Given the description of an element on the screen output the (x, y) to click on. 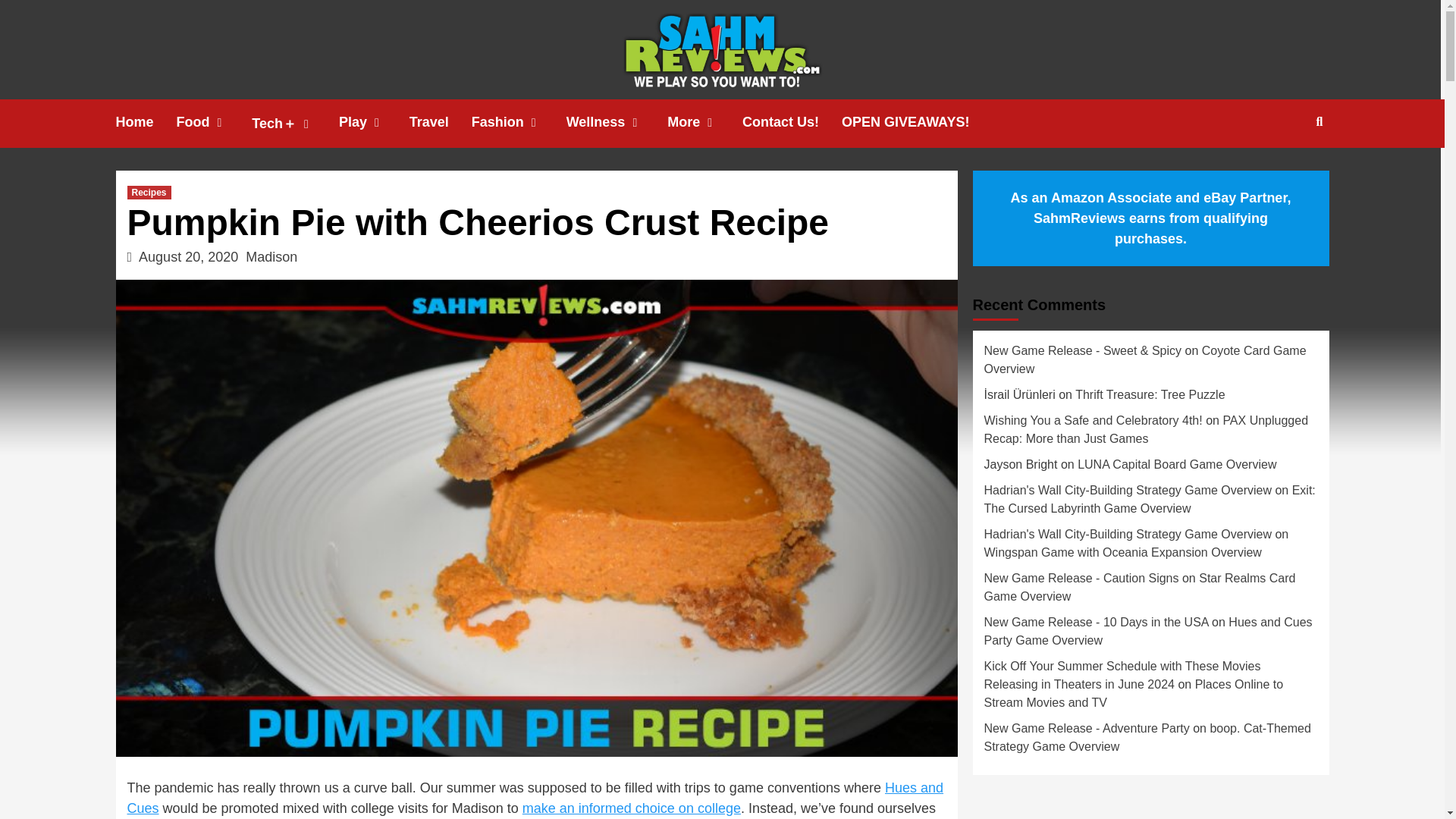
Fashion (518, 122)
Play (374, 122)
Wellness (617, 122)
Home (145, 122)
Food (213, 122)
Travel (440, 122)
More (704, 122)
